Given the description of an element on the screen output the (x, y) to click on. 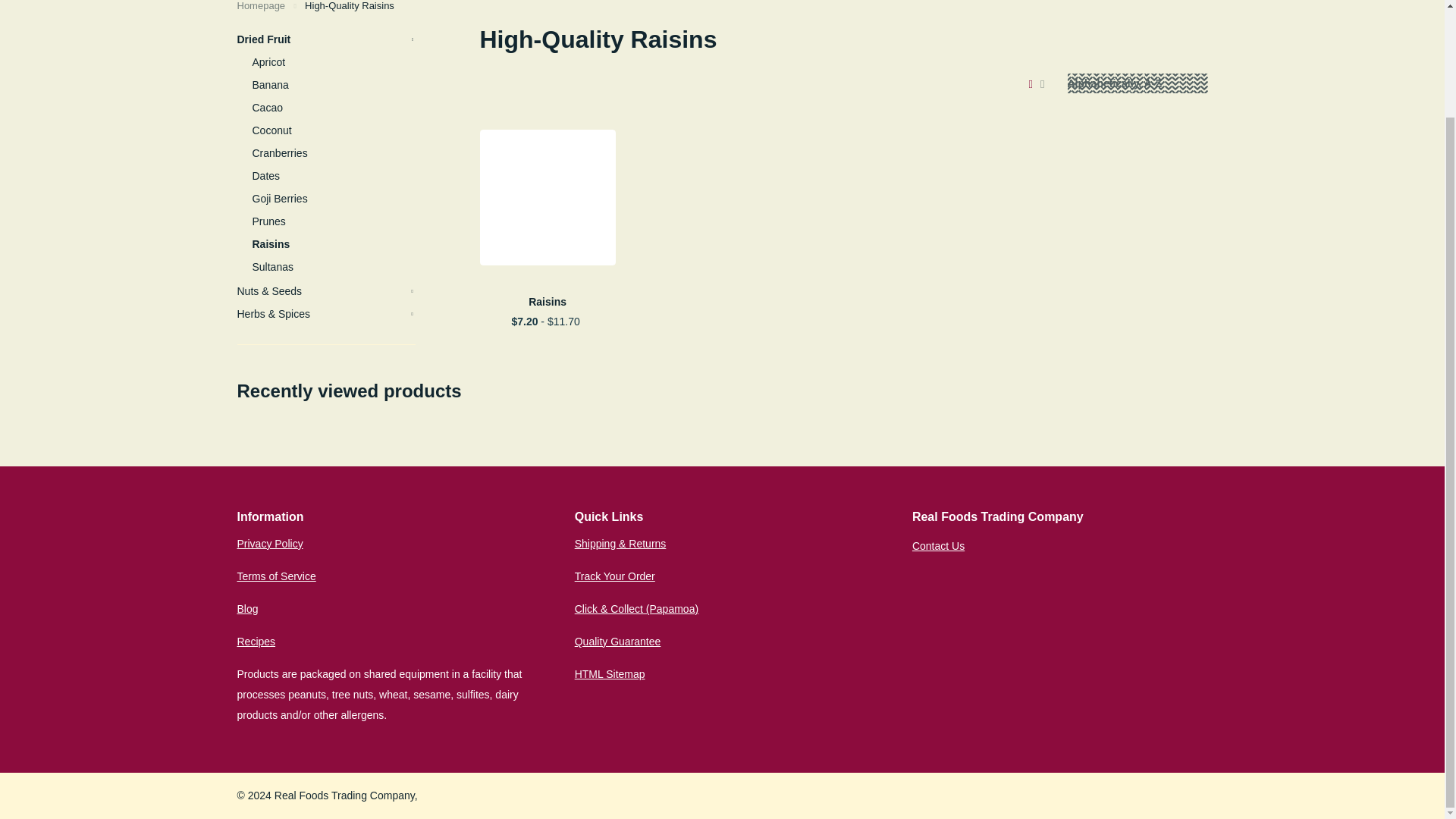
Goji Berries (332, 198)
Cacao (332, 107)
Apricot (332, 61)
Raisins (332, 243)
Cranberries (332, 152)
Toggle Dried Fruit (412, 39)
Sultanas (332, 266)
Home (260, 5)
Track Your Order (615, 576)
Real Foods Recipes (255, 641)
Prunes (332, 220)
Raisins (546, 301)
Homepage (260, 5)
Banana (332, 84)
Terms of service (275, 576)
